Given the description of an element on the screen output the (x, y) to click on. 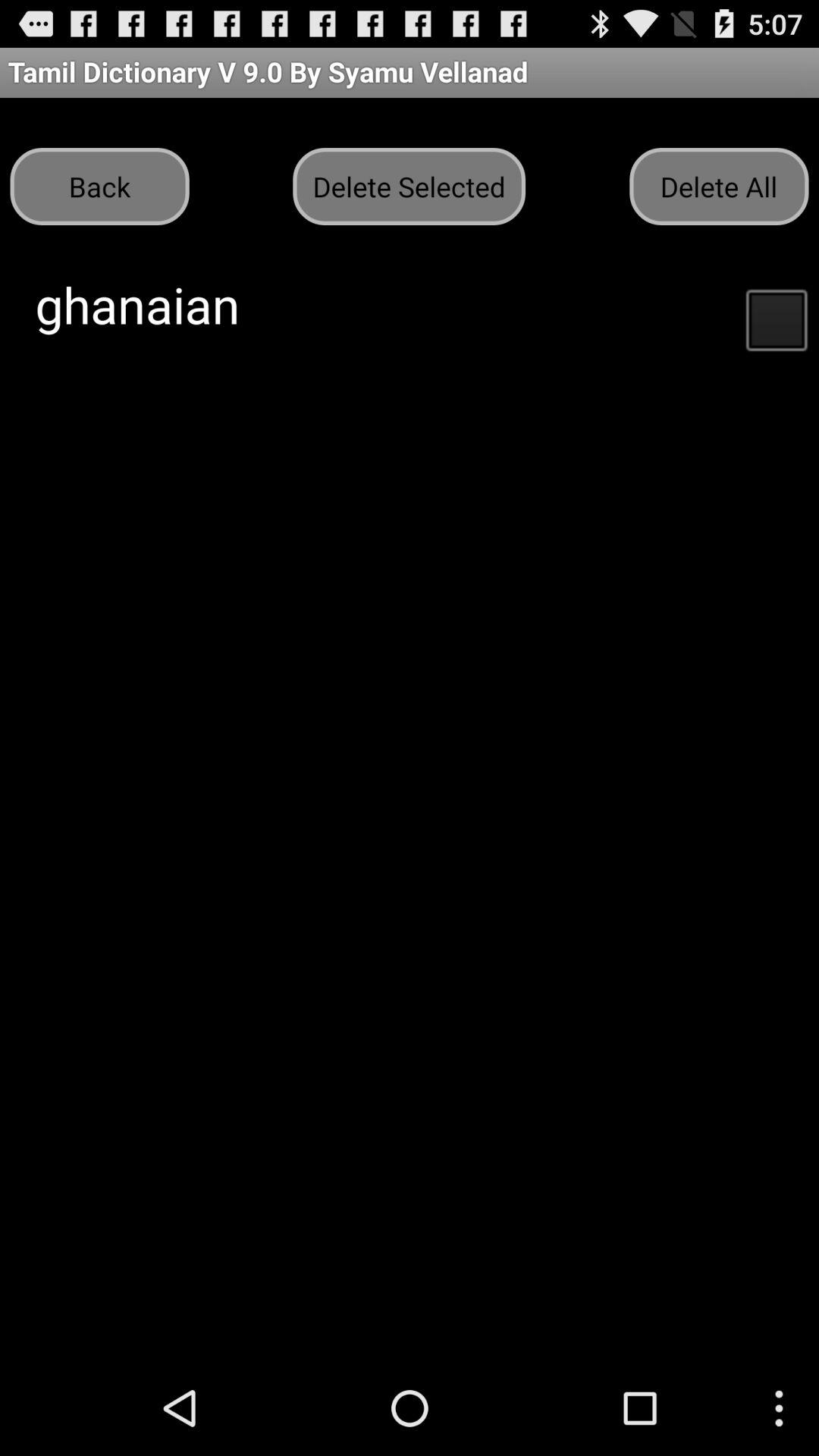
scroll until the delete all icon (718, 186)
